Given the description of an element on the screen output the (x, y) to click on. 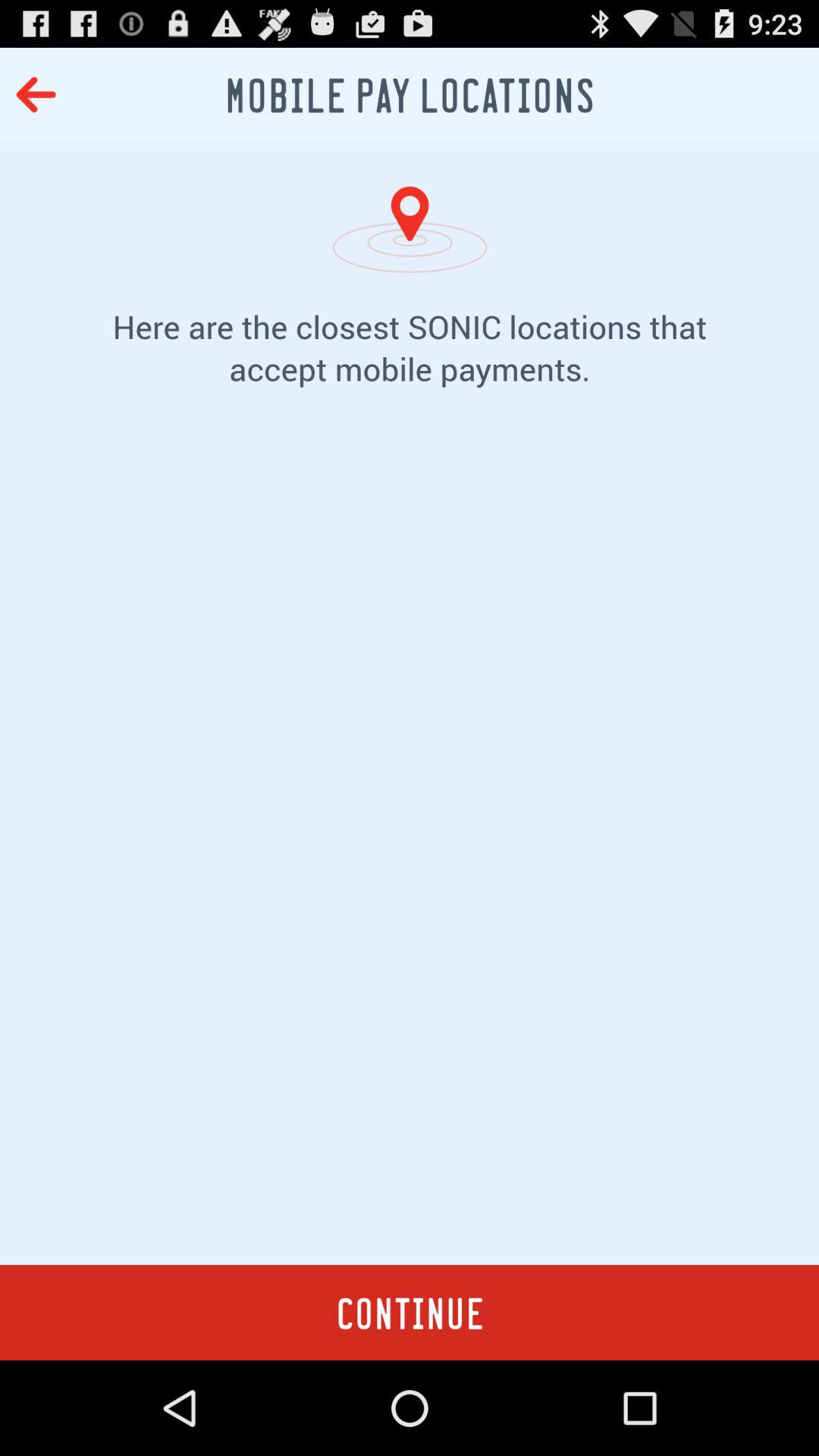
open the item above the continue item (409, 848)
